Given the description of an element on the screen output the (x, y) to click on. 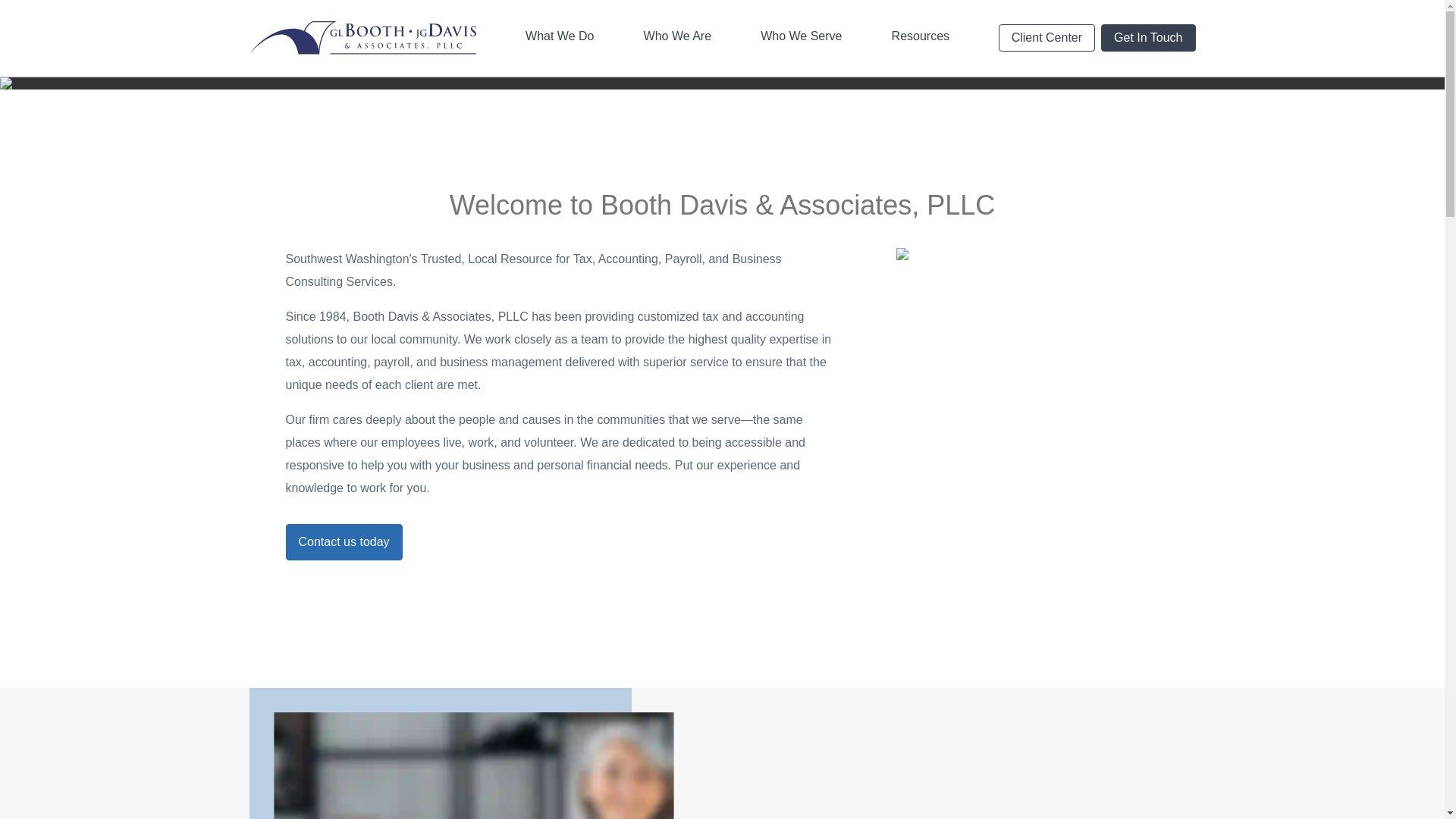
Resources (920, 37)
Who We Serve (800, 37)
Who We Are (677, 37)
What We Do (559, 37)
